Given the description of an element on the screen output the (x, y) to click on. 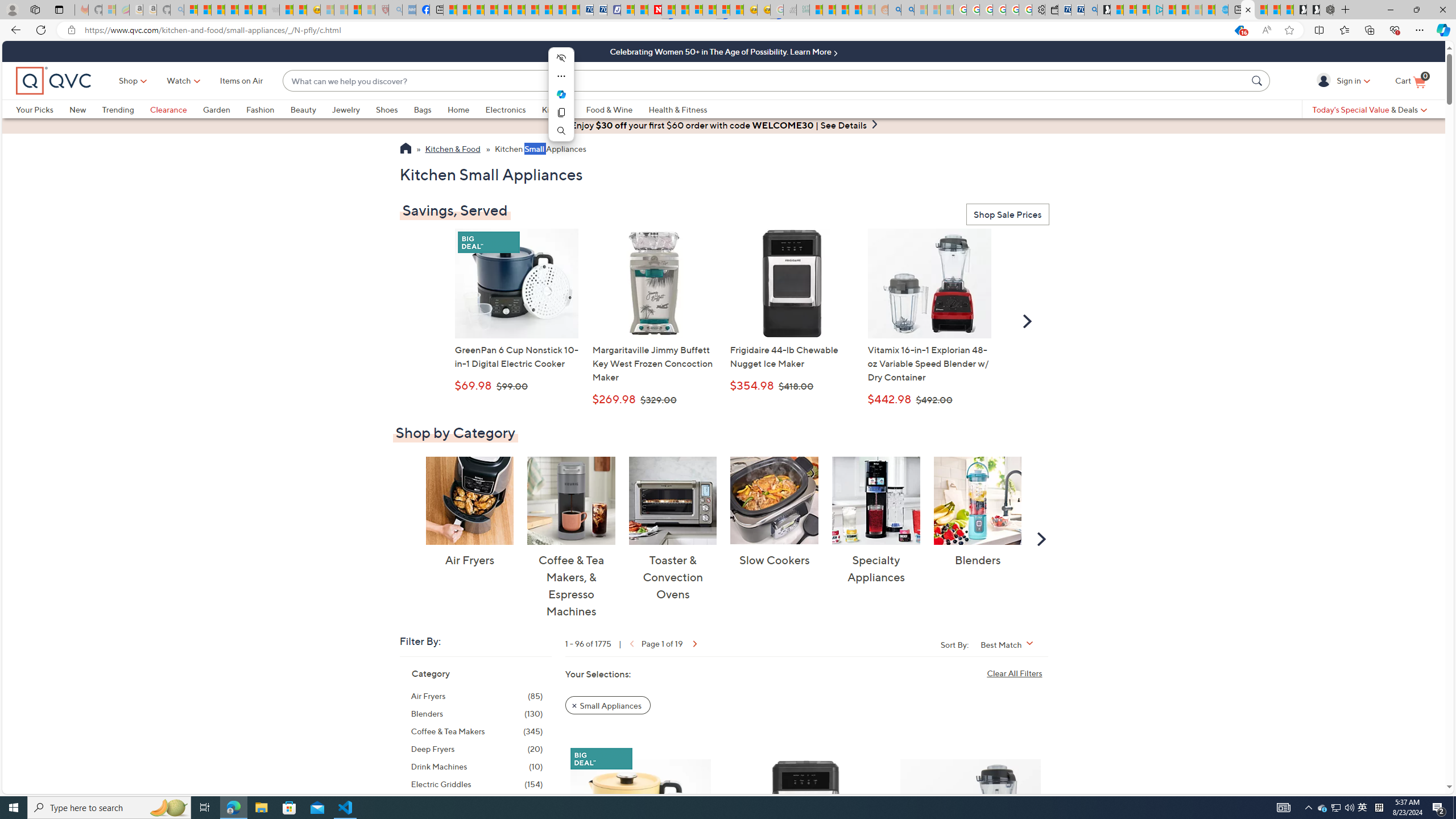
Trending (125, 109)
Hide menu (560, 58)
Nordace - Nordace Siena Is Not An Ordinary Backpack (1326, 9)
What can we help you discover? (764, 80)
Microsoft Start Gaming (1103, 9)
